Given the description of an element on the screen output the (x, y) to click on. 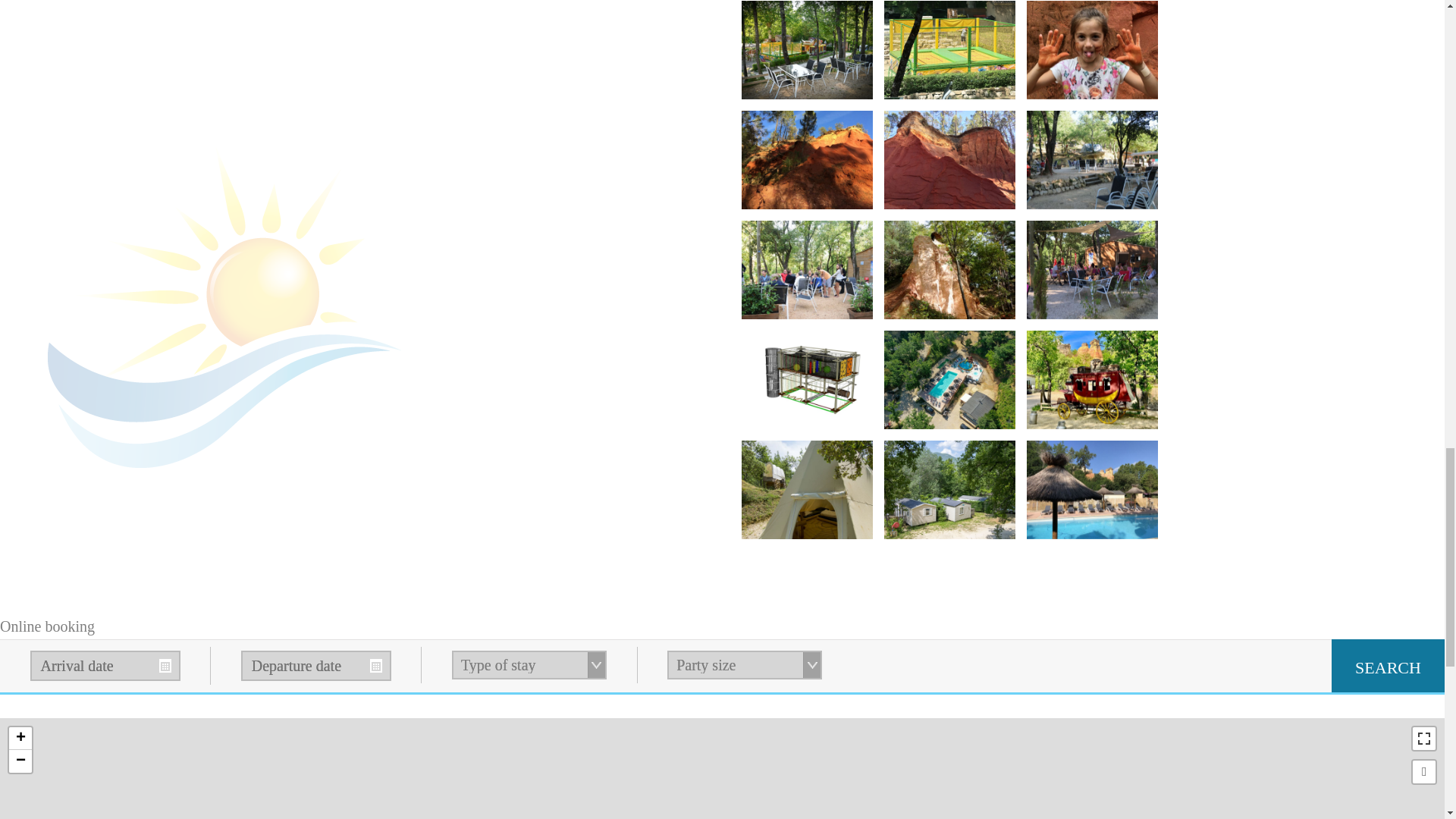
Zoom in (20, 738)
View Fullscreen (1423, 738)
Zoom out (20, 761)
Current Position (1423, 771)
